Given the description of an element on the screen output the (x, y) to click on. 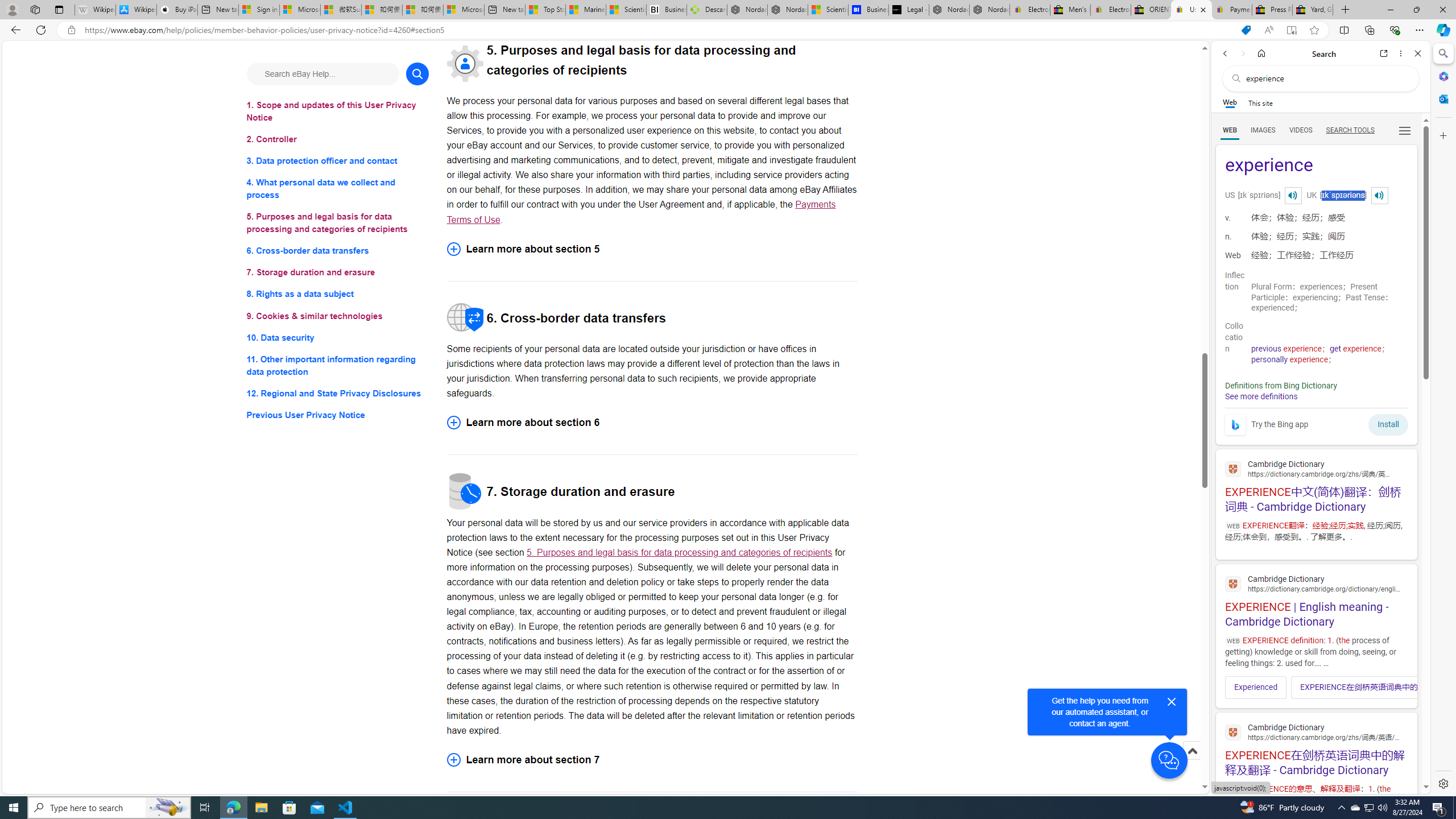
3. Data protection officer and contact (337, 160)
11. Other important information regarding data protection (337, 365)
Experienced (1256, 687)
10. Data security (337, 336)
Scroll to top (1191, 762)
1. Scope and updates of this User Privacy Notice (337, 111)
get experience (1355, 348)
7. Storage duration and erasure (337, 272)
